Given the description of an element on the screen output the (x, y) to click on. 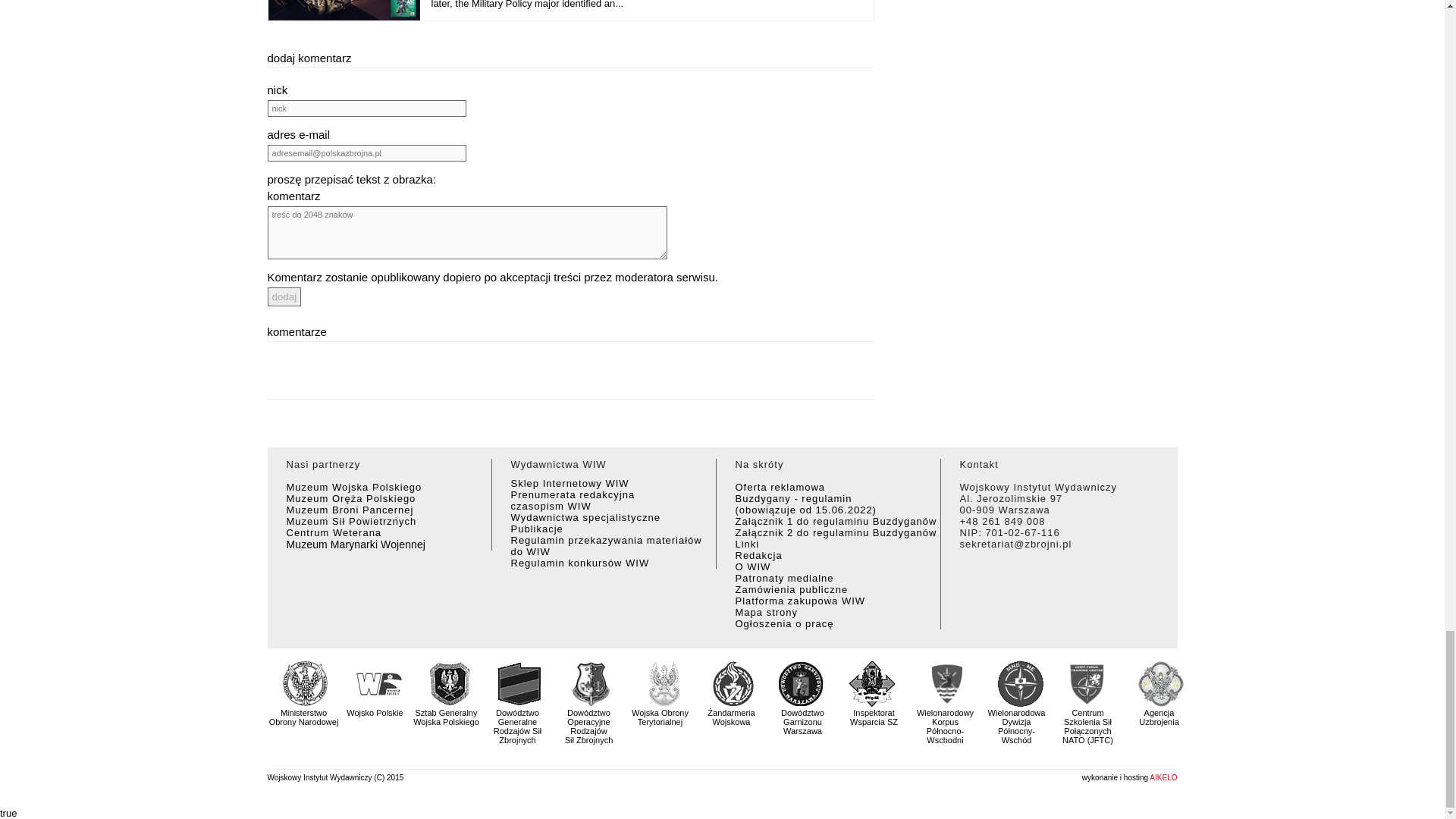
dodaj (283, 296)
